Given the description of an element on the screen output the (x, y) to click on. 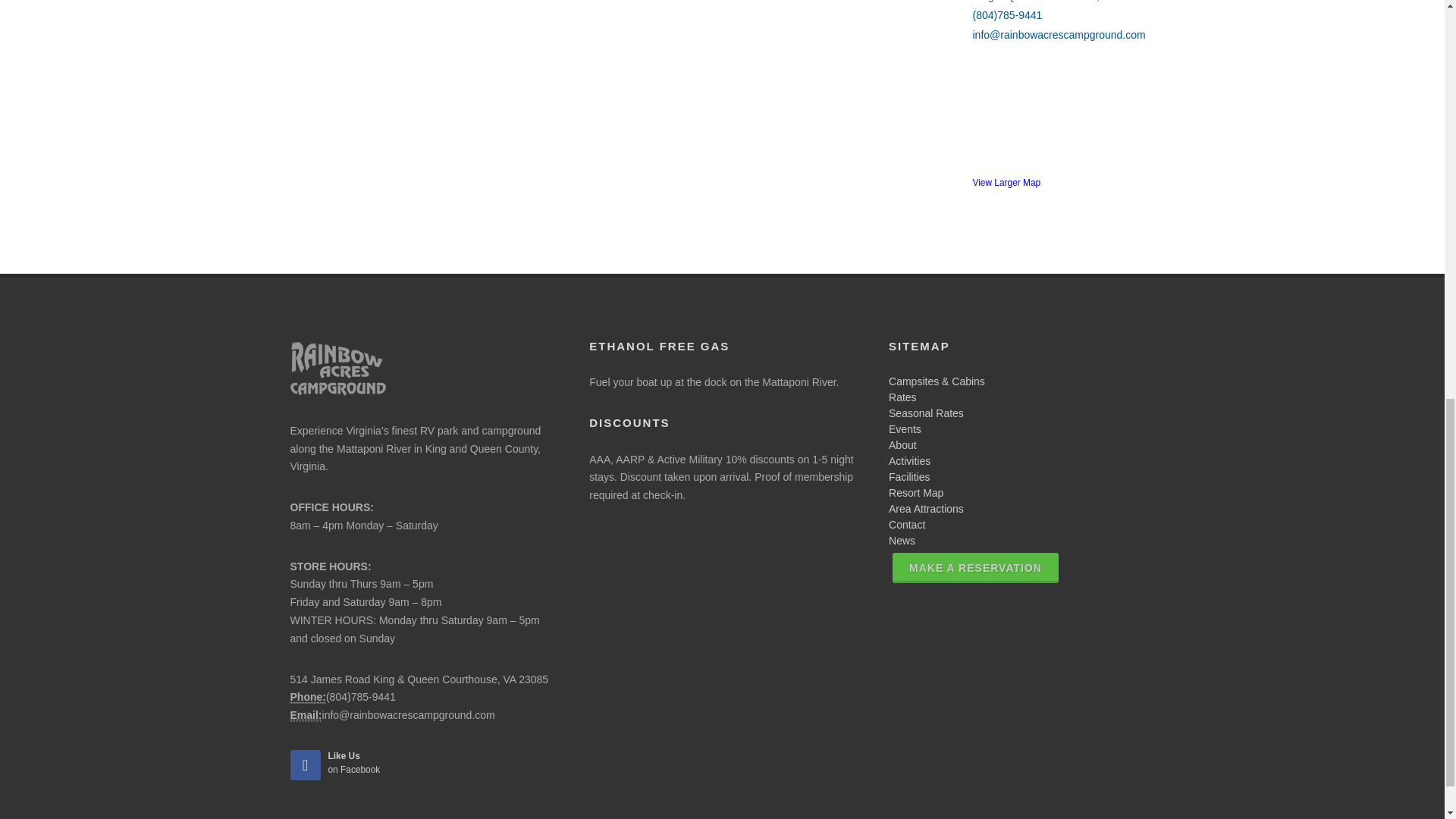
Seasonal Rates (925, 413)
News (901, 540)
Rates (902, 397)
Activities (909, 460)
MAKE A RESERVATION (349, 763)
Phone Number (975, 567)
Resort Map (306, 697)
Facilities (915, 492)
Events (909, 476)
Area Attractions (904, 428)
About (925, 508)
Email Address (902, 444)
Contact (305, 715)
View Larger Map (906, 524)
